Given the description of an element on the screen output the (x, y) to click on. 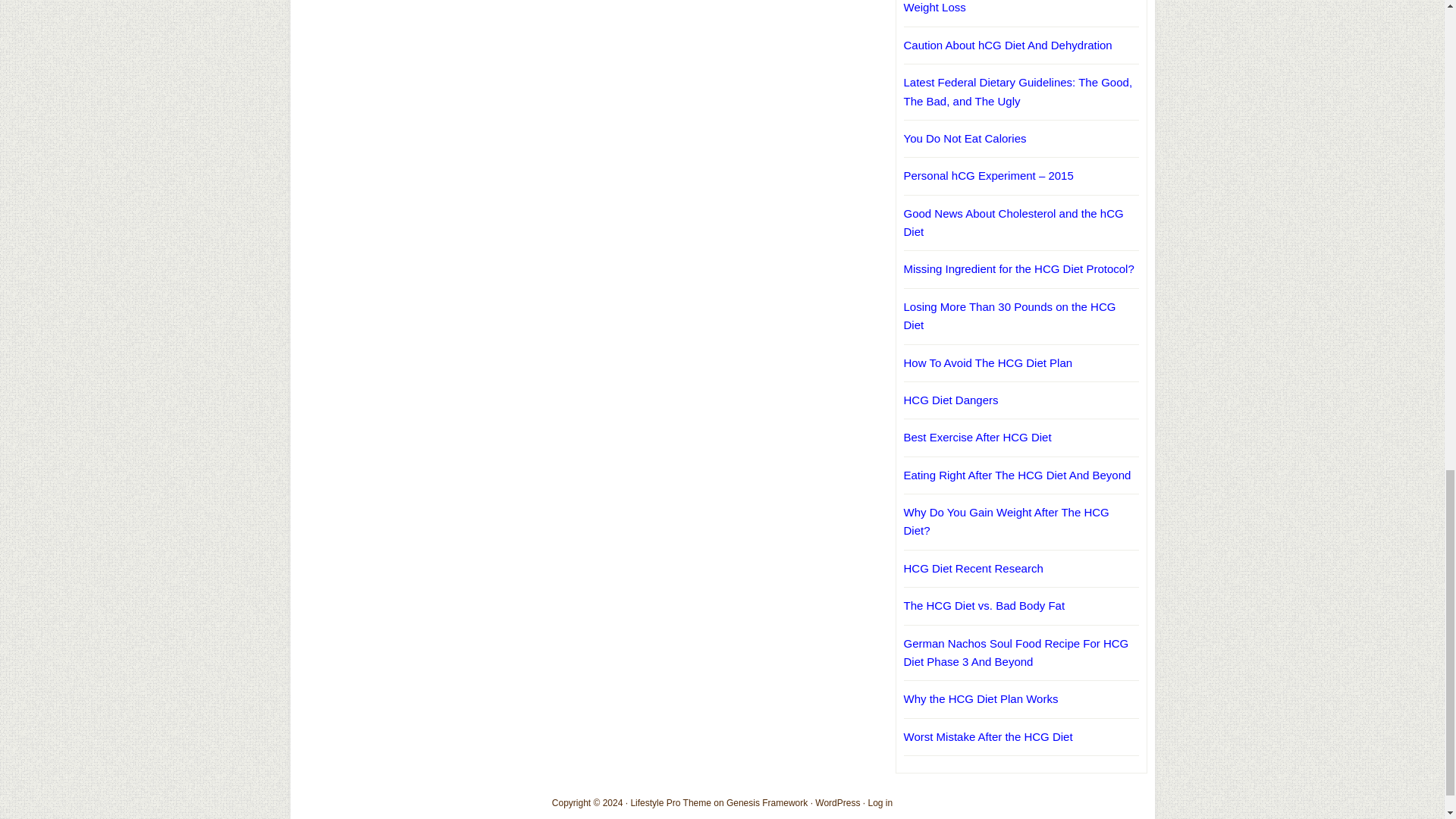
Losing More Than 30 Pounds on the HCG Diet (1010, 315)
How To Avoid The HCG Diet Plan (988, 361)
Good News About Cholesterol and the hCG Diet (1014, 222)
Why Do You Gain Weight After The HCG Diet? (1006, 521)
HCG Diet Recent Research (973, 567)
Lifestyle Pro Theme (670, 802)
Log in (879, 802)
Why the HCG Diet Plan Works (981, 698)
The HCG Diet vs. Bad Body Fat (984, 604)
Missing Ingredient for the HCG Diet Protocol? (1019, 268)
Best Exercise After HCG Diet (977, 436)
HCG Diet Dangers (951, 399)
How To Choose Your Best Diet Plan For Weight Loss (1004, 6)
